Given the description of an element on the screen output the (x, y) to click on. 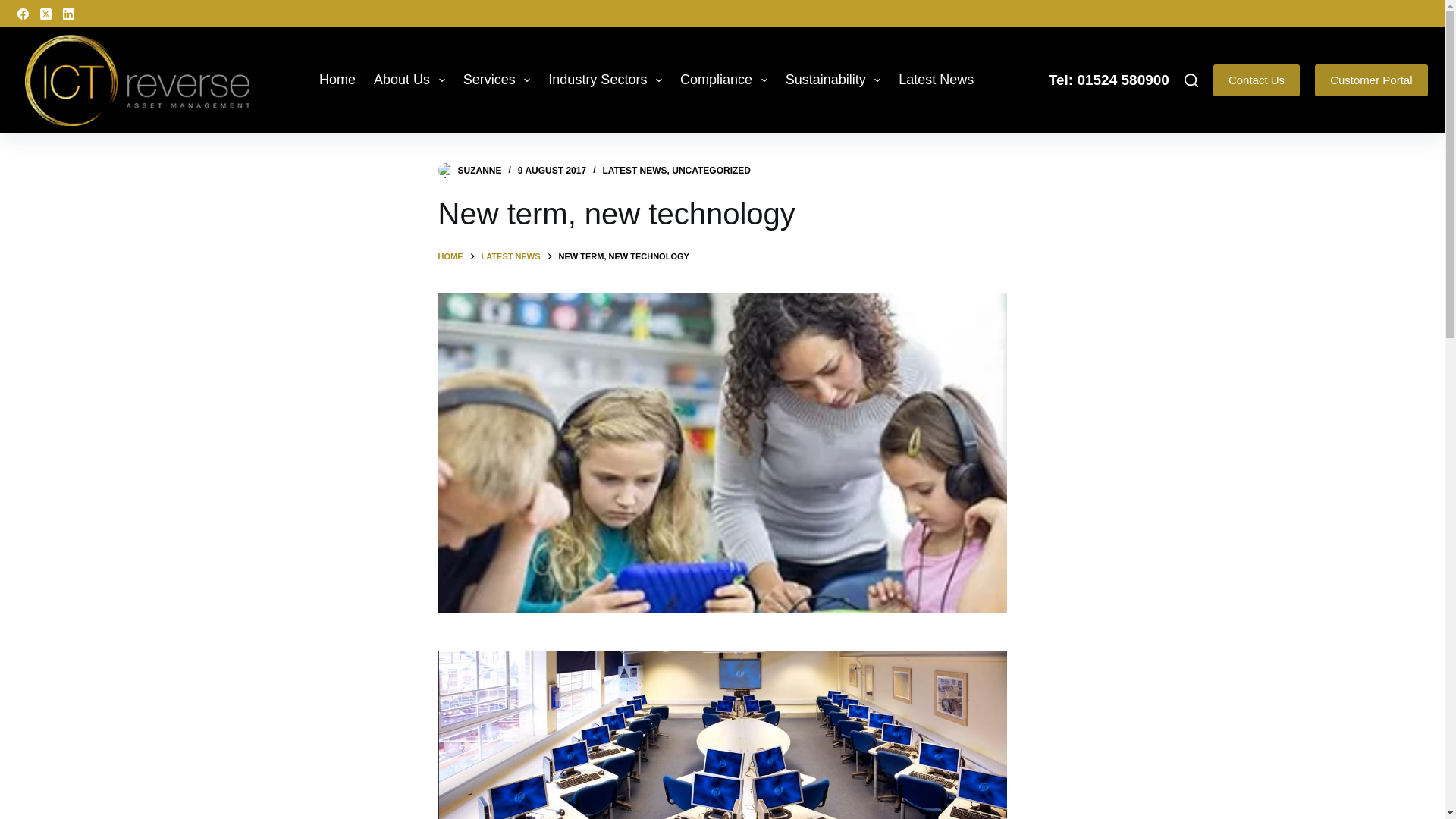
Skip to content (15, 7)
Posts by Suzanne (480, 170)
New term, new technology (722, 213)
